Given the description of an element on the screen output the (x, y) to click on. 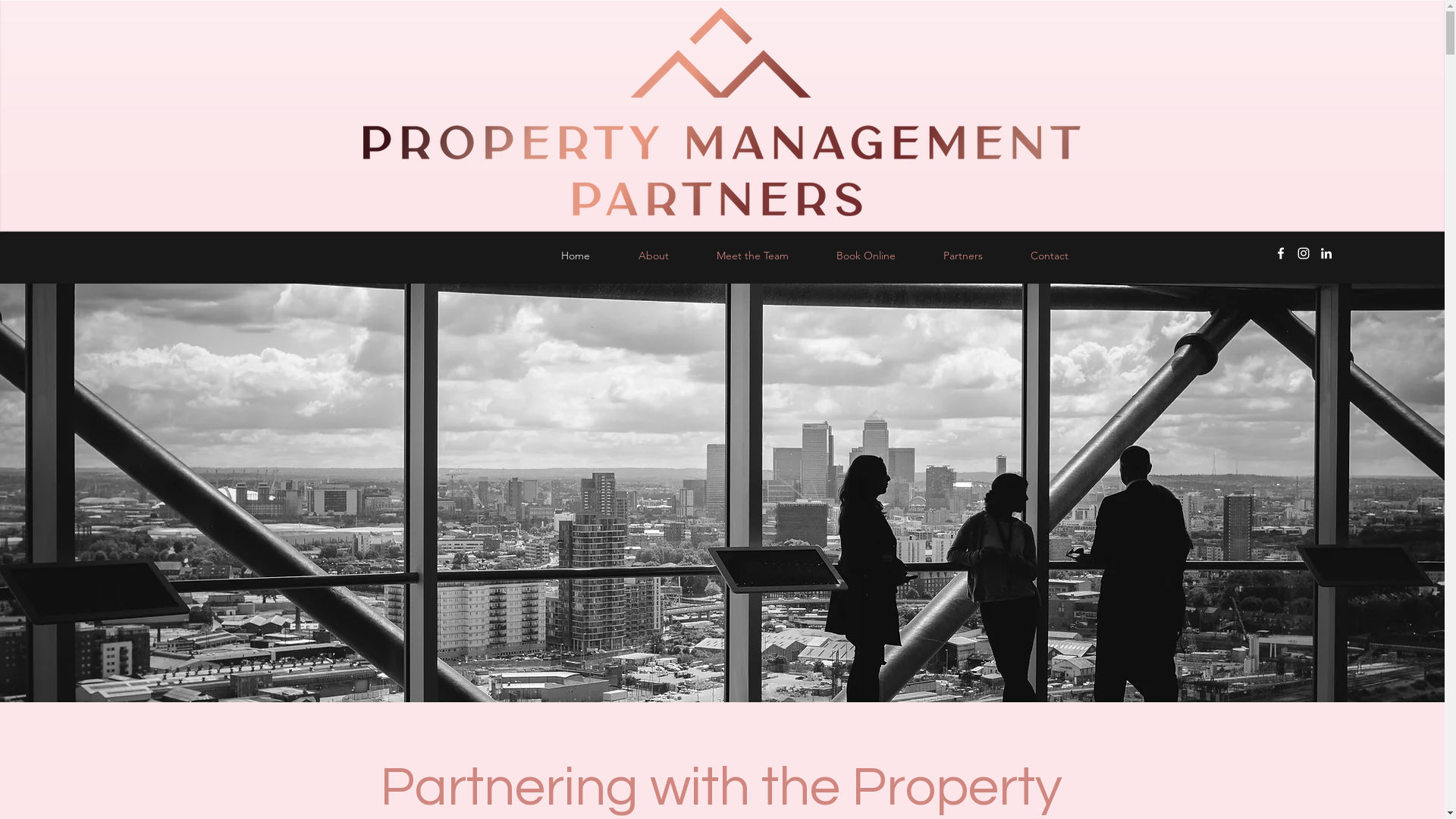
About Element type: text (653, 255)
Partners Element type: text (962, 255)
Book Online Element type: text (865, 255)
Meet the Team Element type: text (752, 255)
Home Element type: text (575, 255)
Contact Element type: text (1049, 255)
